Given the description of an element on the screen output the (x, y) to click on. 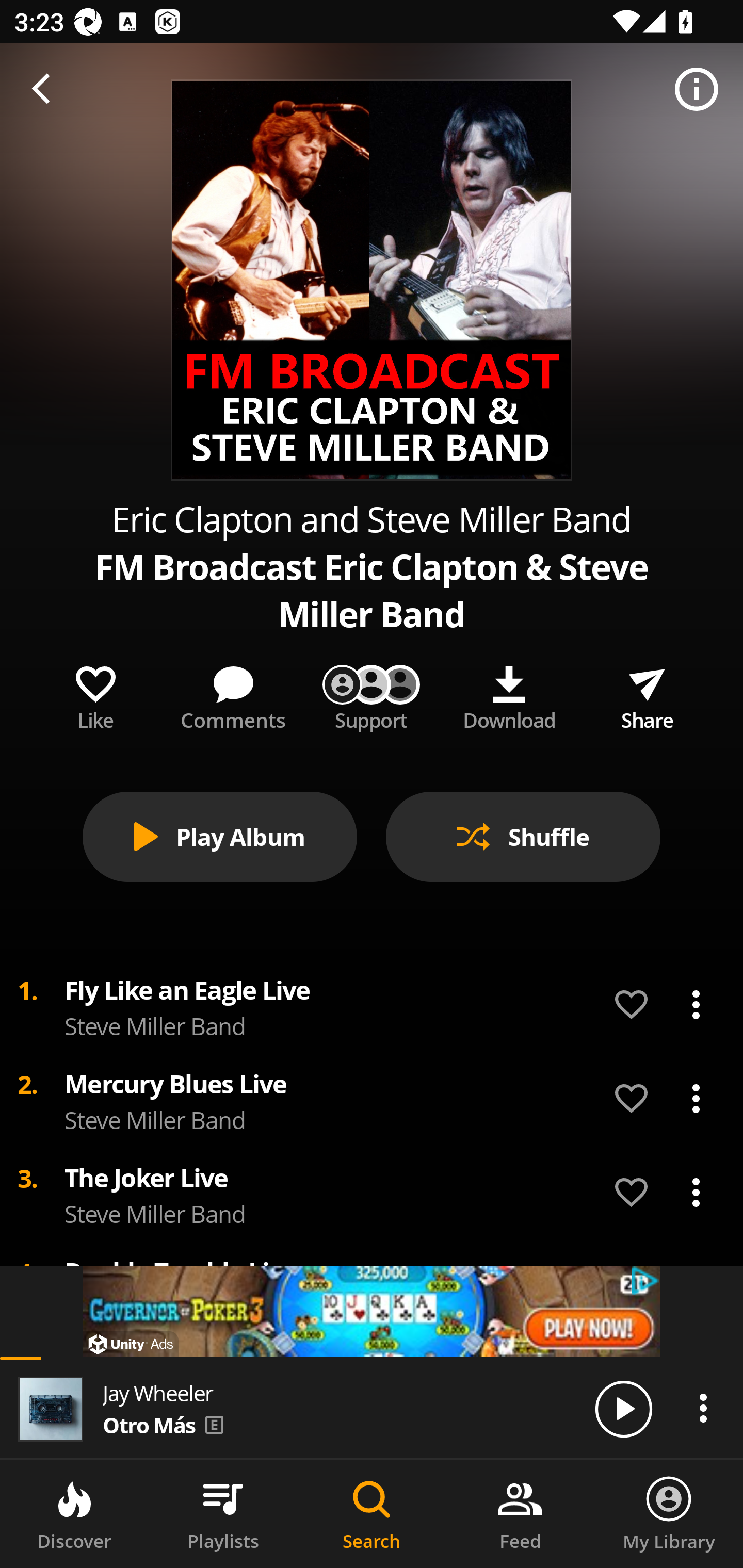
Close (46, 89)
Music info (696, 89)
Like (95, 694)
Comment Comments Comment (233, 694)
Support (371, 694)
Download (509, 694)
Share (647, 694)
Play Album (219, 836)
Shuffle (522, 836)
Actions (695, 1005)
2. Mercury Blues Live Steve Miller Band Actions (371, 1099)
Actions (695, 1098)
3. The Joker Live Steve Miller Band Actions (371, 1192)
Actions (695, 1192)
lsu54e6m_orsjcin_pa022wal7ih1pbtk (371, 1311)
privacy (645, 1280)
Actions (703, 1407)
Play/Pause (623, 1408)
Discover (74, 1513)
Playlists (222, 1513)
Search (371, 1513)
Feed (519, 1513)
My Library (668, 1513)
